Given the description of an element on the screen output the (x, y) to click on. 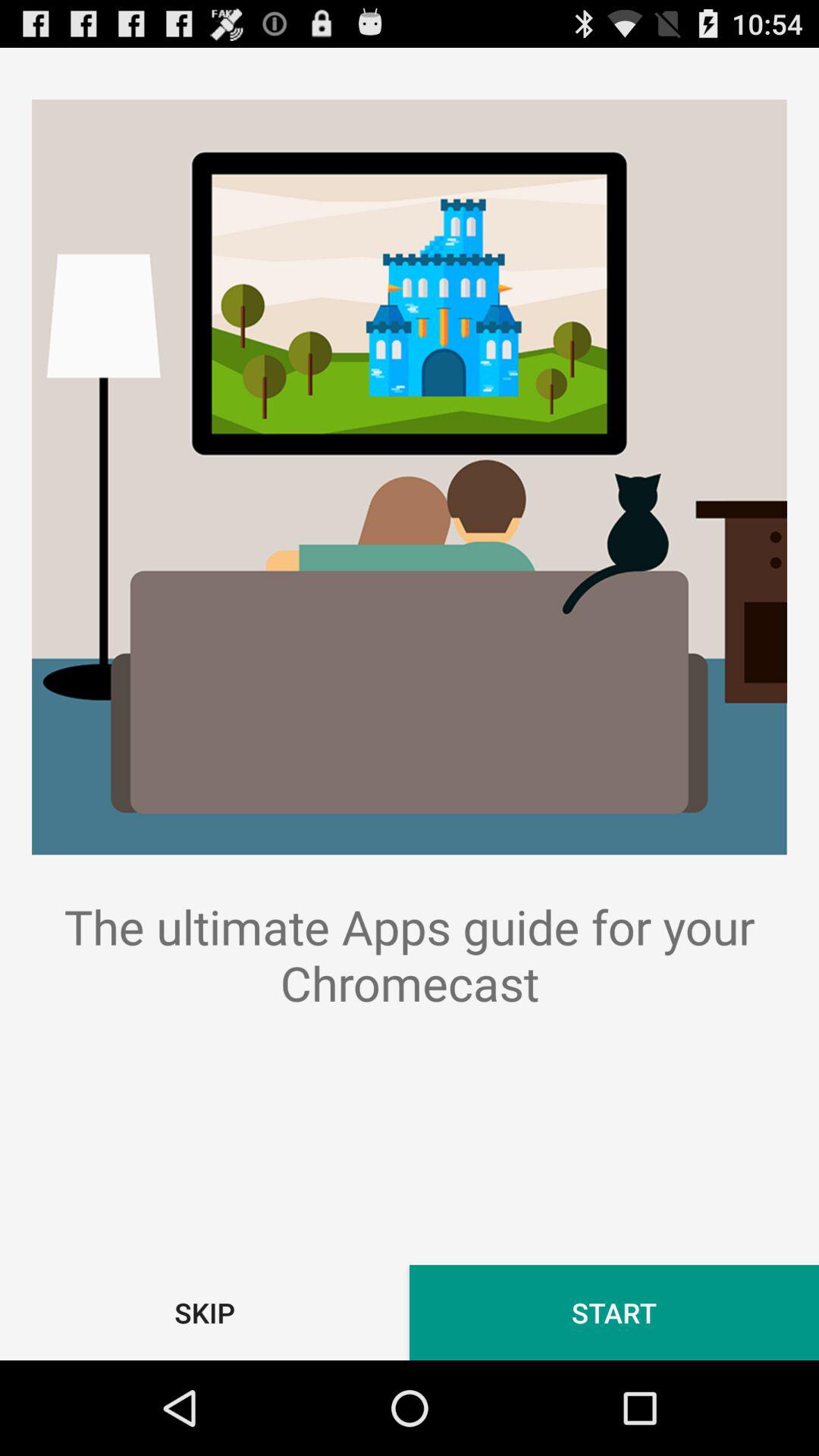
turn on item below the ultimate apps (204, 1312)
